Given the description of an element on the screen output the (x, y) to click on. 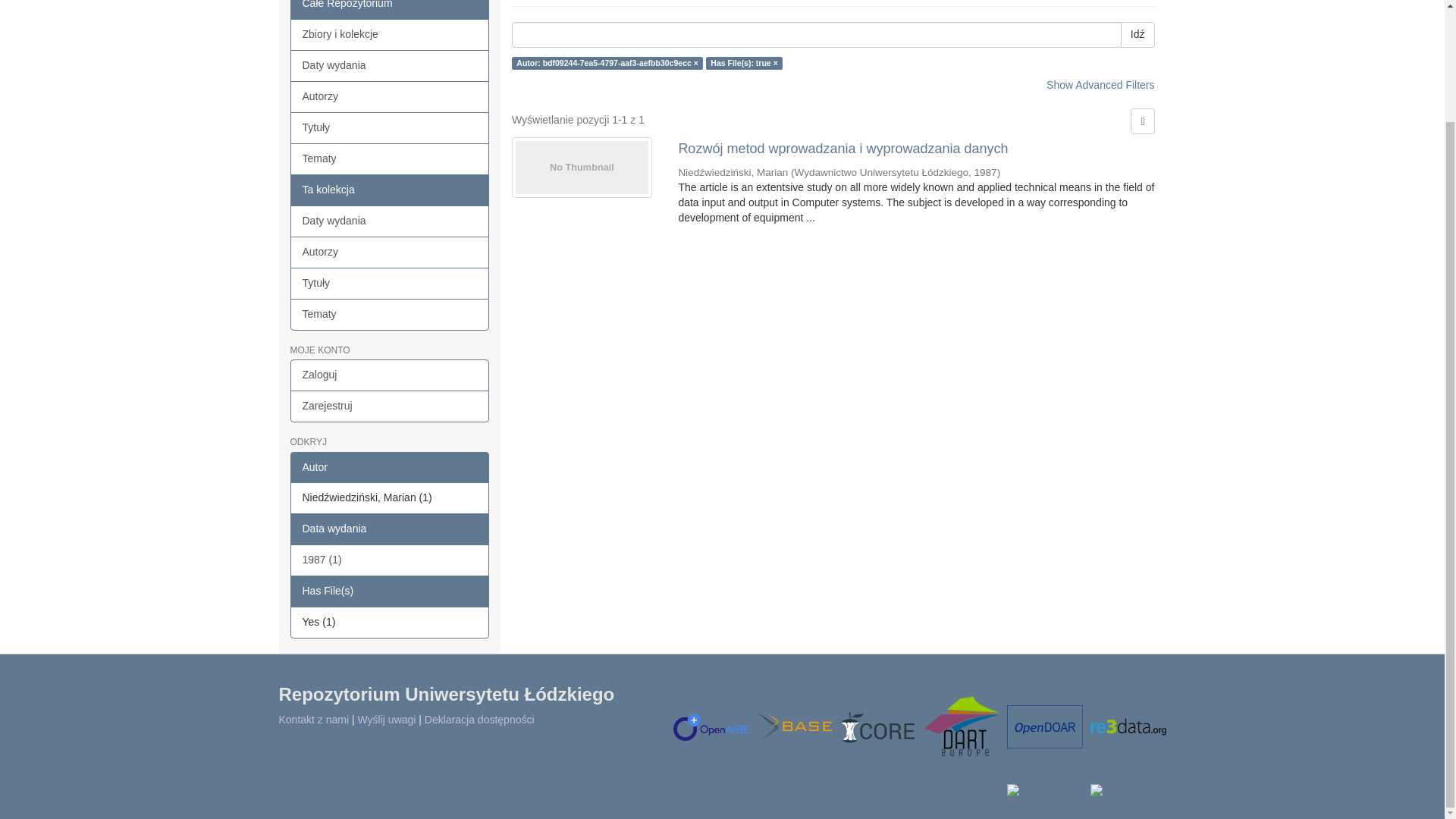
Ta kolekcja (389, 190)
Daty wydania (389, 65)
Data wydania (389, 529)
Zarejestruj (389, 406)
Tematy (389, 314)
Show Advanced Filters (1100, 84)
Daty wydania (389, 221)
Autorzy (389, 97)
Zaloguj (389, 375)
Autor (389, 468)
